Given the description of an element on the screen output the (x, y) to click on. 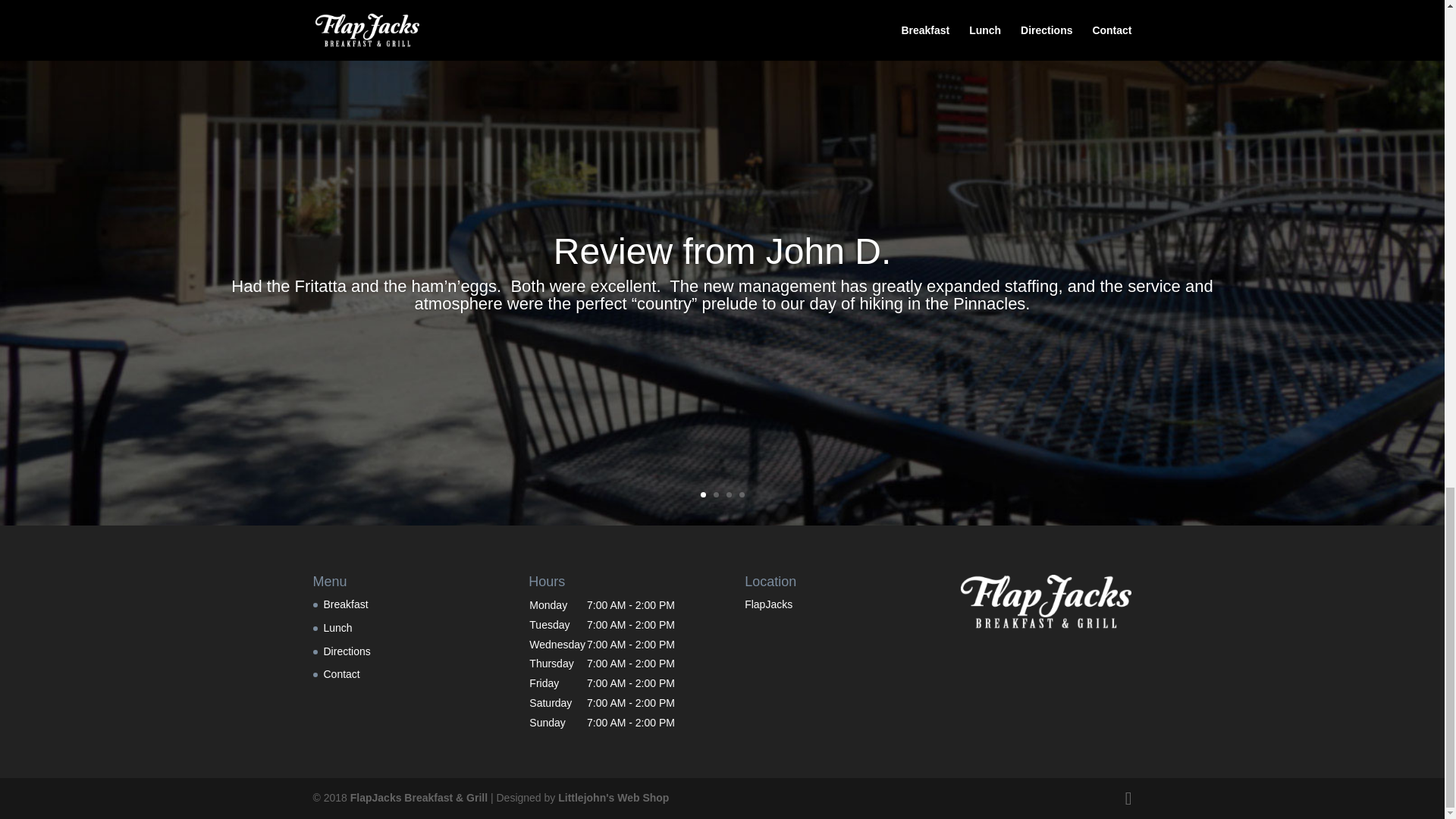
Lunch (337, 627)
Contact (341, 674)
Littlejohn's Web Shop (612, 797)
Directions (346, 651)
Breakfast (345, 604)
